Given the description of an element on the screen output the (x, y) to click on. 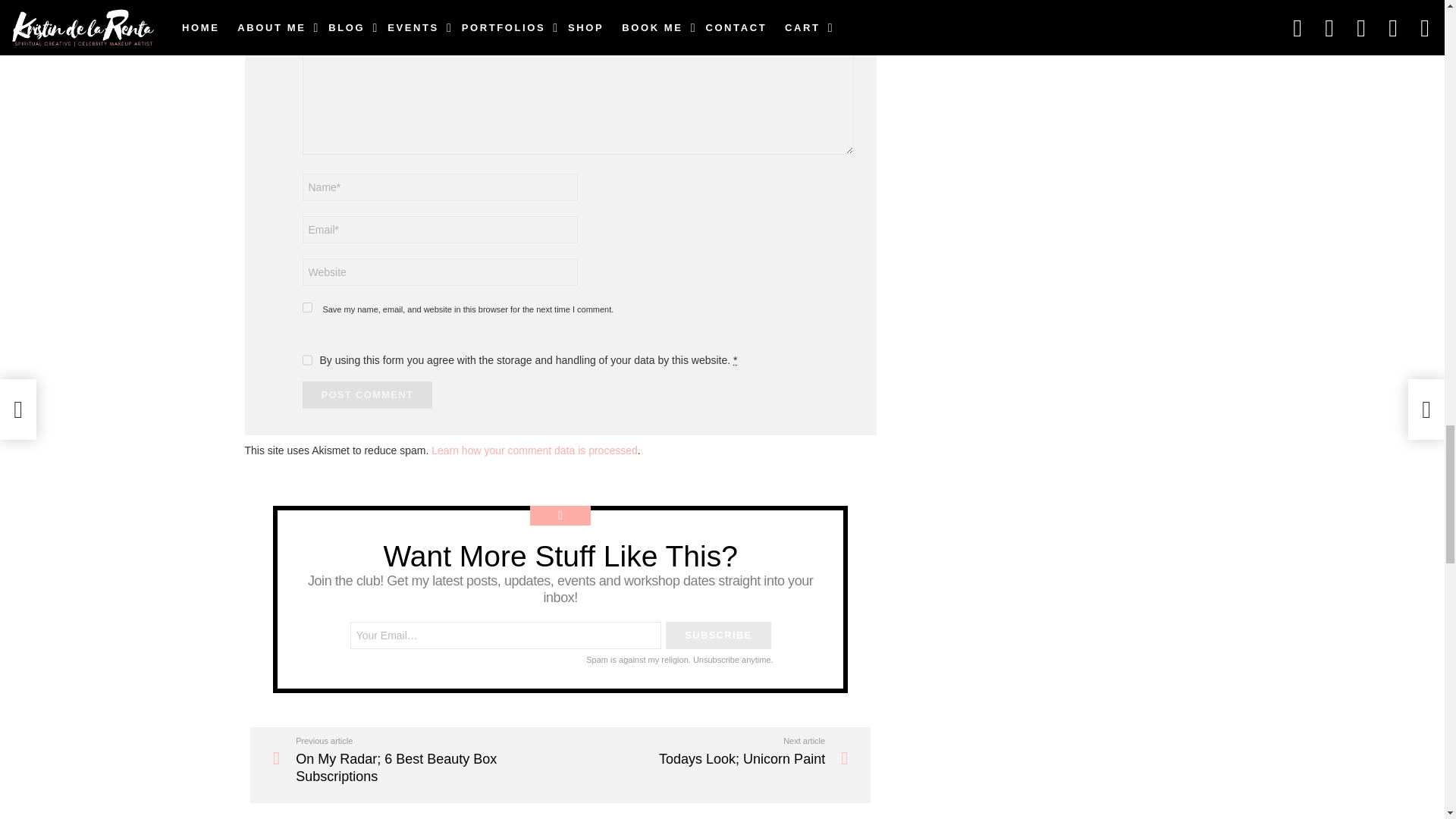
yes (306, 307)
Subscribe (717, 635)
Post Comment (366, 394)
